Given the description of an element on the screen output the (x, y) to click on. 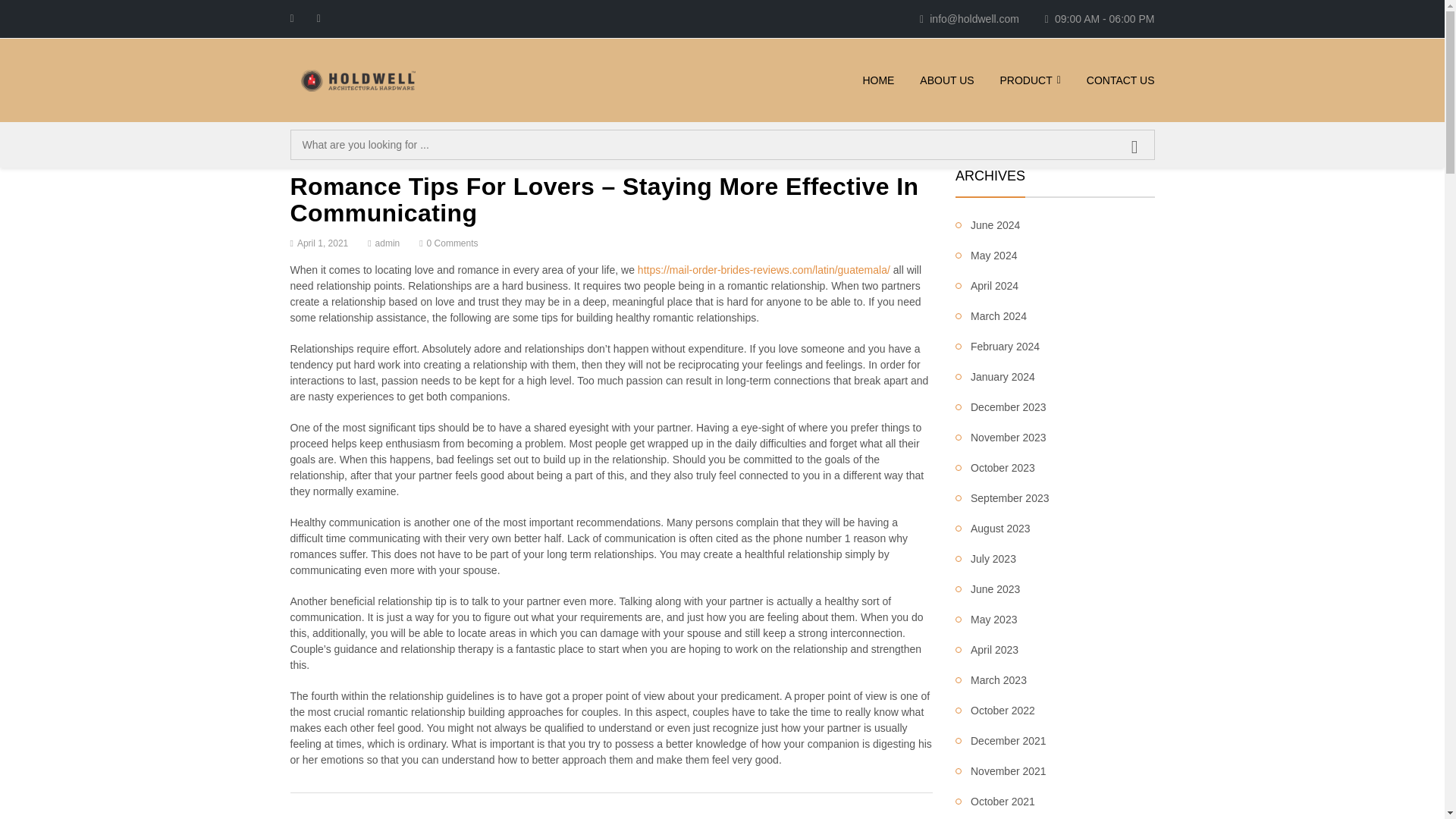
Enter your keywords (721, 144)
